Given the description of an element on the screen output the (x, y) to click on. 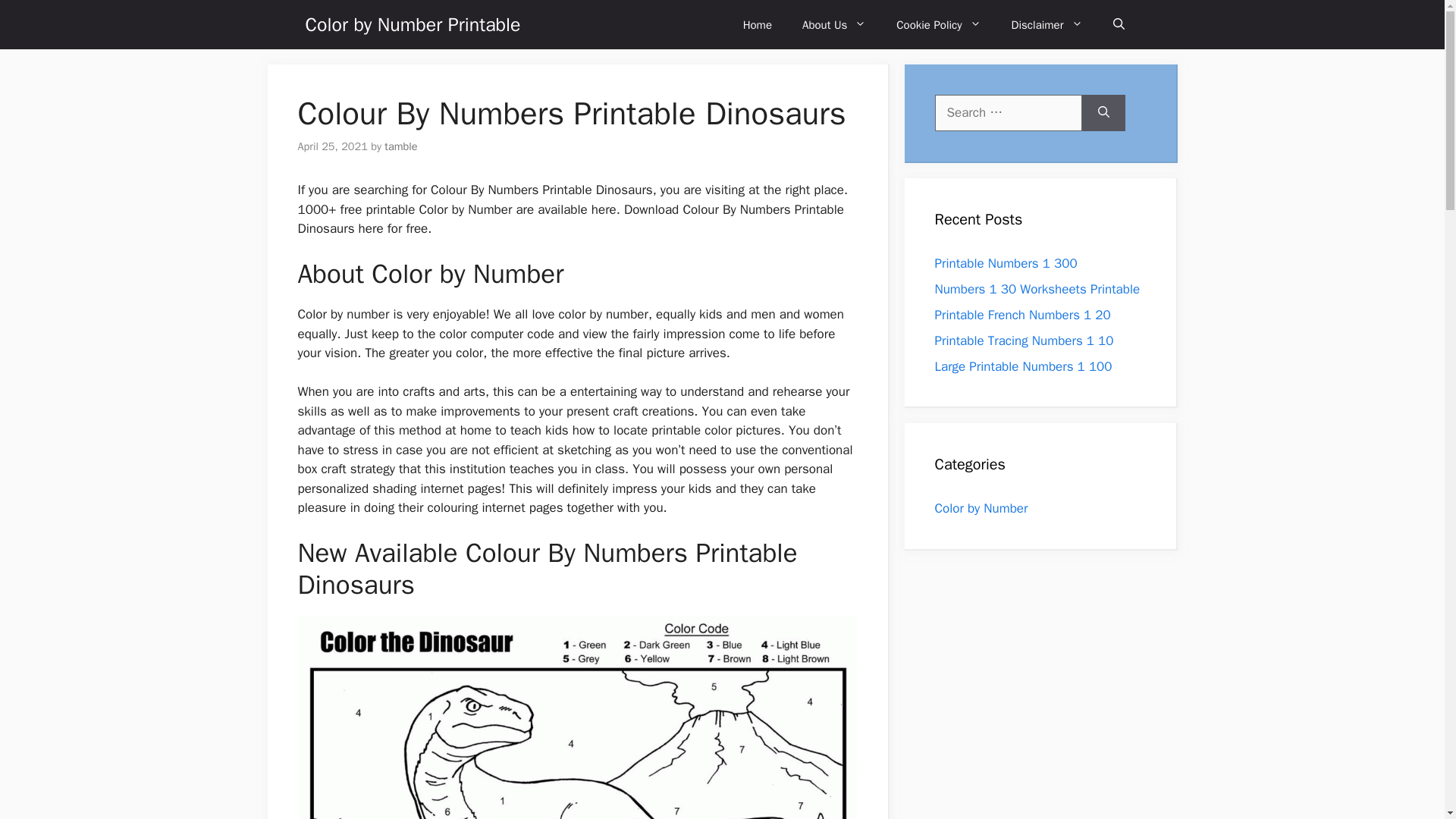
Numbers 1 30 Worksheets Printable (1037, 288)
View all posts by tamble (400, 146)
tamble (400, 146)
Printable French Numbers 1 20 (1021, 314)
Printable Numbers 1 300 (1005, 262)
Cookie Policy (937, 23)
Large Printable Numbers 1 100 (1023, 365)
Color by Number Printable (411, 24)
Search for: (1007, 113)
Home (757, 23)
About Us (833, 23)
Color by Number (980, 508)
Disclaimer (1046, 23)
Printable Tracing Numbers 1 10 (1023, 340)
